Given the description of an element on the screen output the (x, y) to click on. 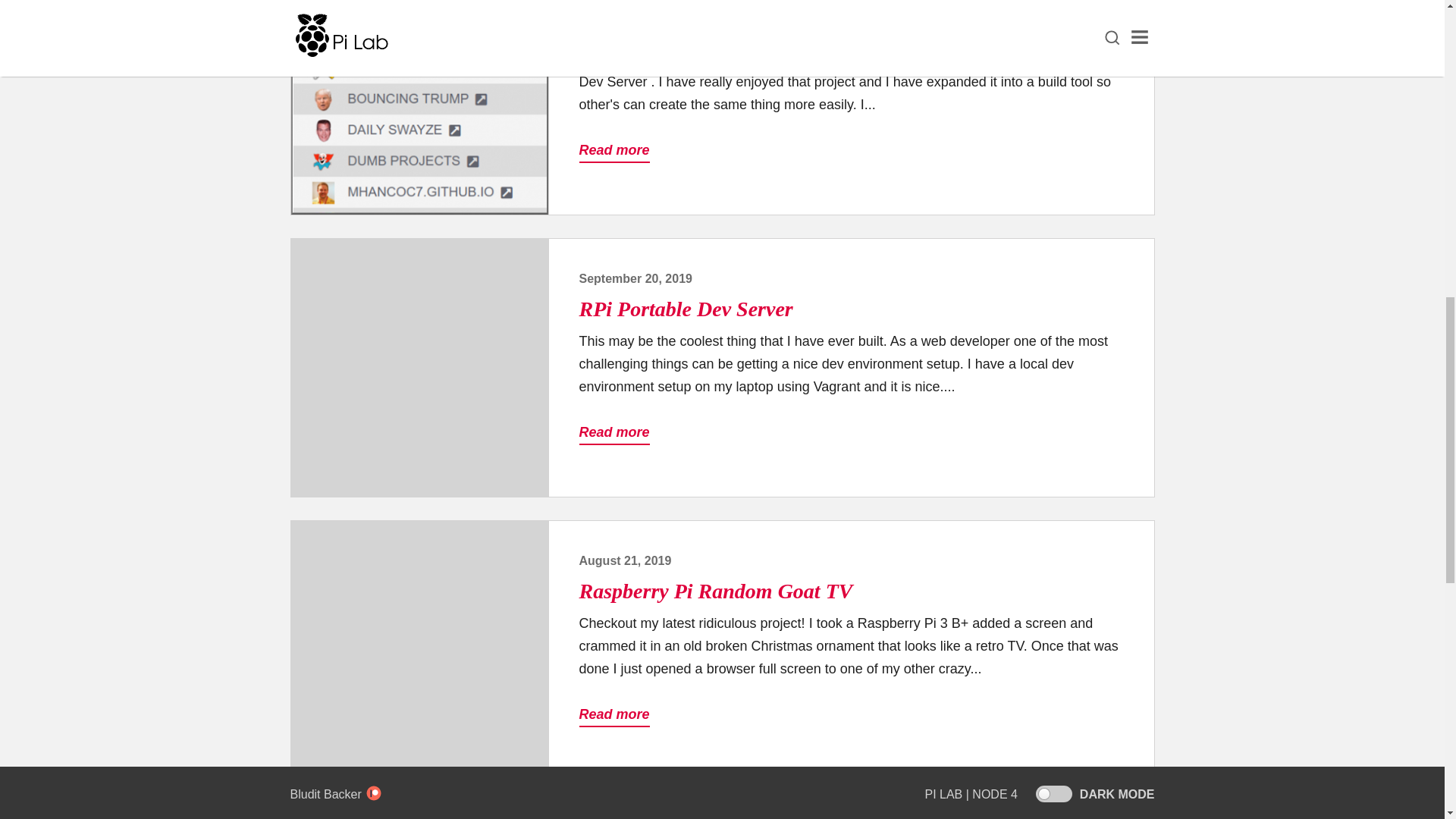
Read more (614, 150)
Continue reading RPi Portable Dev Server (419, 367)
Raspberry Pi Random Goat TV (716, 590)
Continue reading Raspberry Pi Random Goat TV (419, 649)
Continue reading Dev Dashboard Build Tool (419, 107)
RPi Portable Dev Server (686, 309)
Continue reading Pi Lab Twitter Bot (419, 811)
Read more (614, 714)
Read more (614, 432)
Dev Dashboard Build Tool (695, 26)
